Given the description of an element on the screen output the (x, y) to click on. 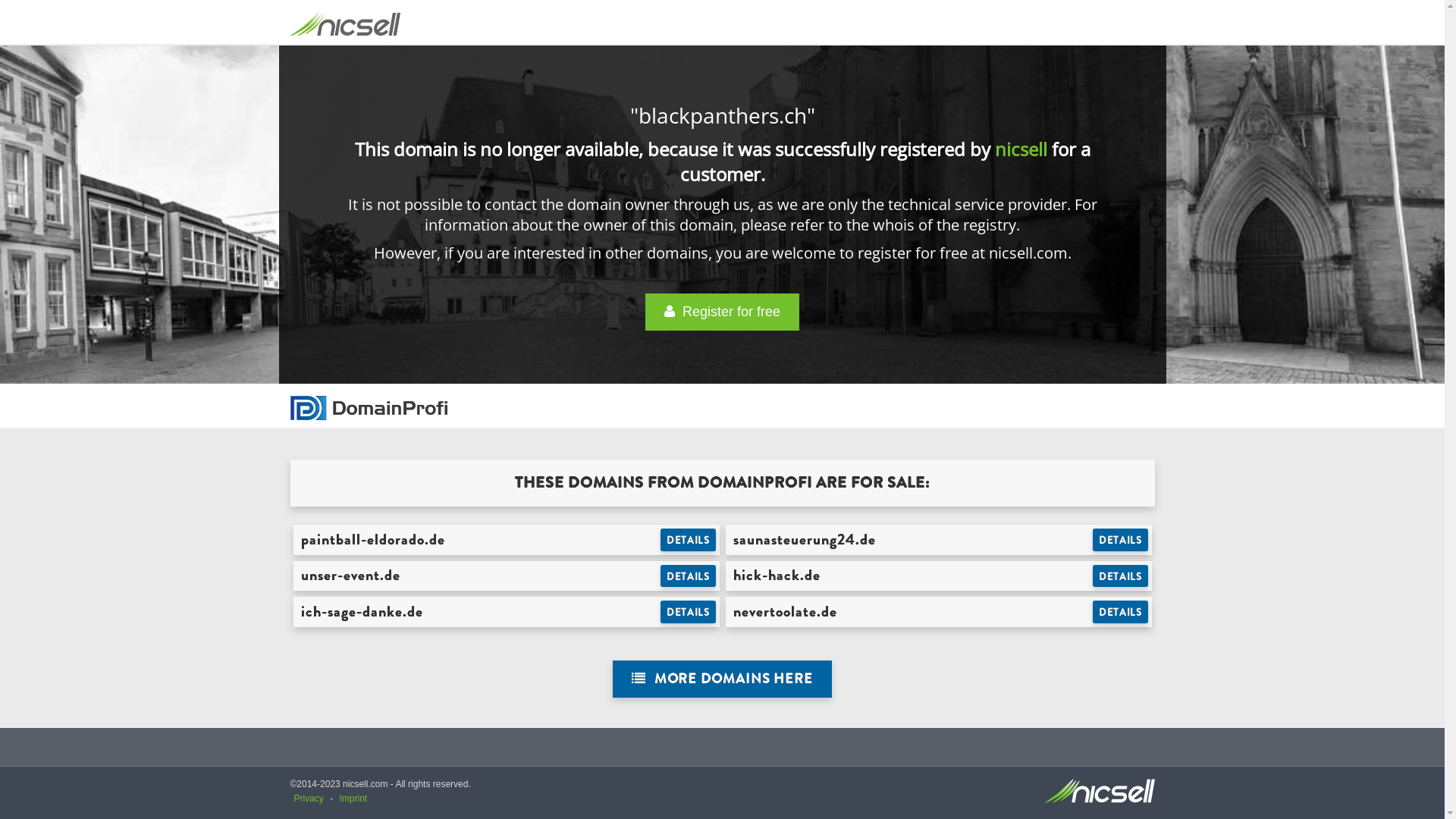
DETAILS Element type: text (687, 575)
nicsell Element type: text (1020, 148)
DETAILS Element type: text (1120, 539)
DETAILS Element type: text (687, 539)
DETAILS Element type: text (1120, 575)
Privacy Element type: text (308, 798)
  Register for free Element type: text (722, 311)
  MORE DOMAINS HERE Element type: text (721, 678)
Imprint Element type: text (353, 798)
DETAILS Element type: text (687, 611)
DETAILS Element type: text (1120, 611)
